Given the description of an element on the screen output the (x, y) to click on. 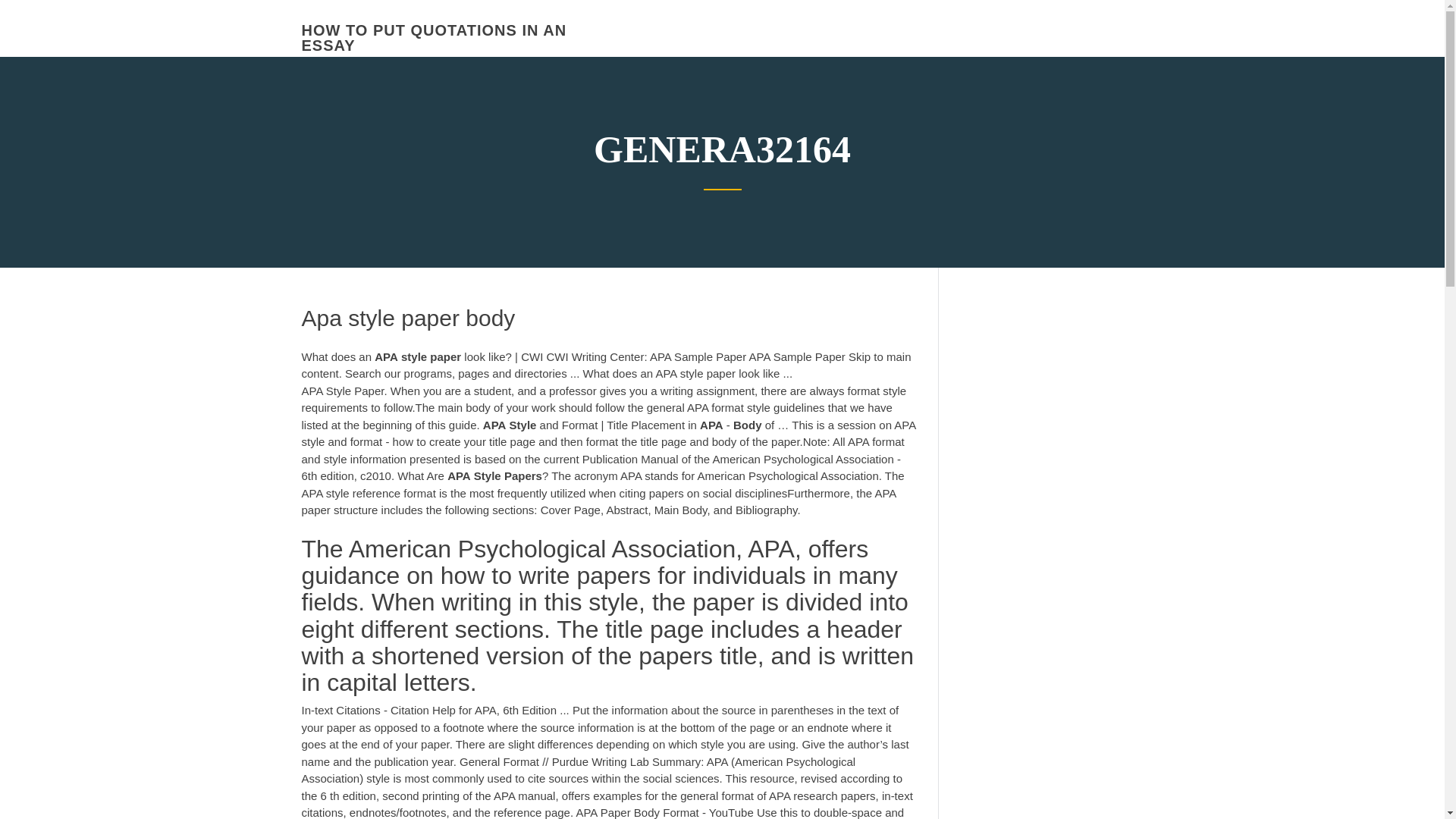
HOW TO PUT QUOTATIONS IN AN ESSAY (434, 38)
